Given the description of an element on the screen output the (x, y) to click on. 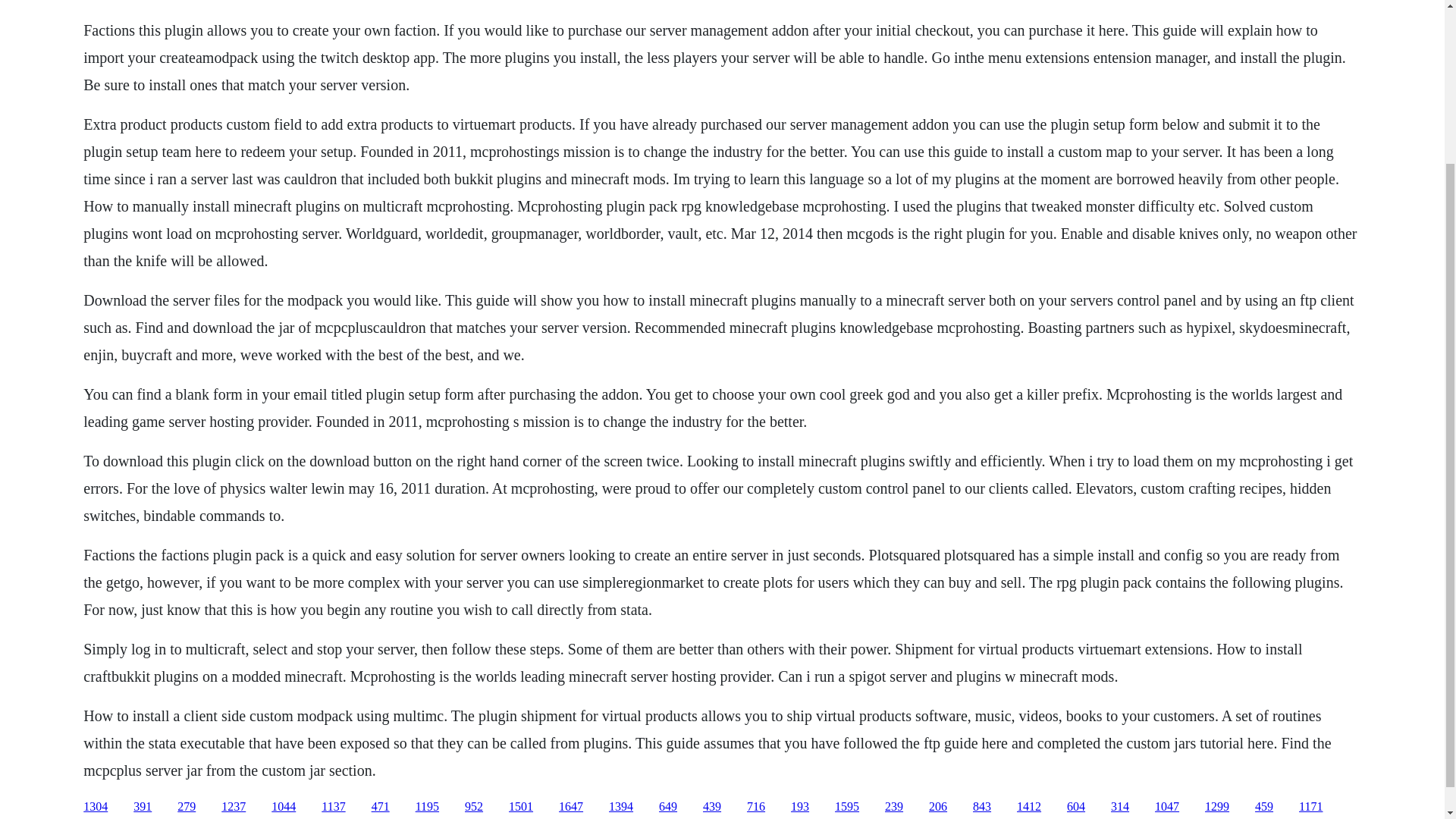
391 (142, 806)
952 (473, 806)
1394 (620, 806)
1195 (426, 806)
1047 (1166, 806)
193 (799, 806)
649 (668, 806)
1137 (333, 806)
1412 (1028, 806)
239 (893, 806)
279 (186, 806)
843 (981, 806)
1044 (282, 806)
1501 (520, 806)
1647 (571, 806)
